Given the description of an element on the screen output the (x, y) to click on. 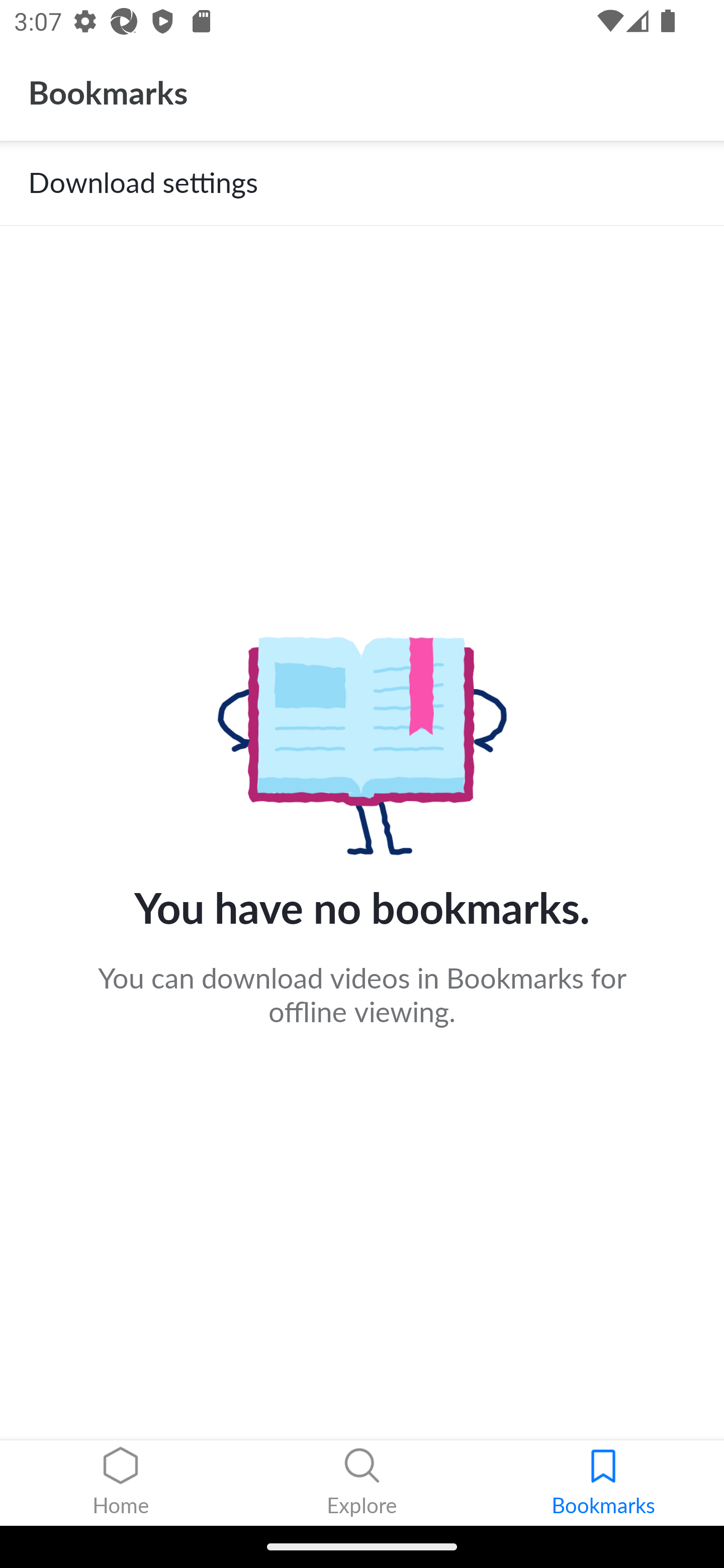
Download settings (362, 183)
Home (120, 1482)
Explore (361, 1482)
Bookmarks (603, 1482)
